Given the description of an element on the screen output the (x, y) to click on. 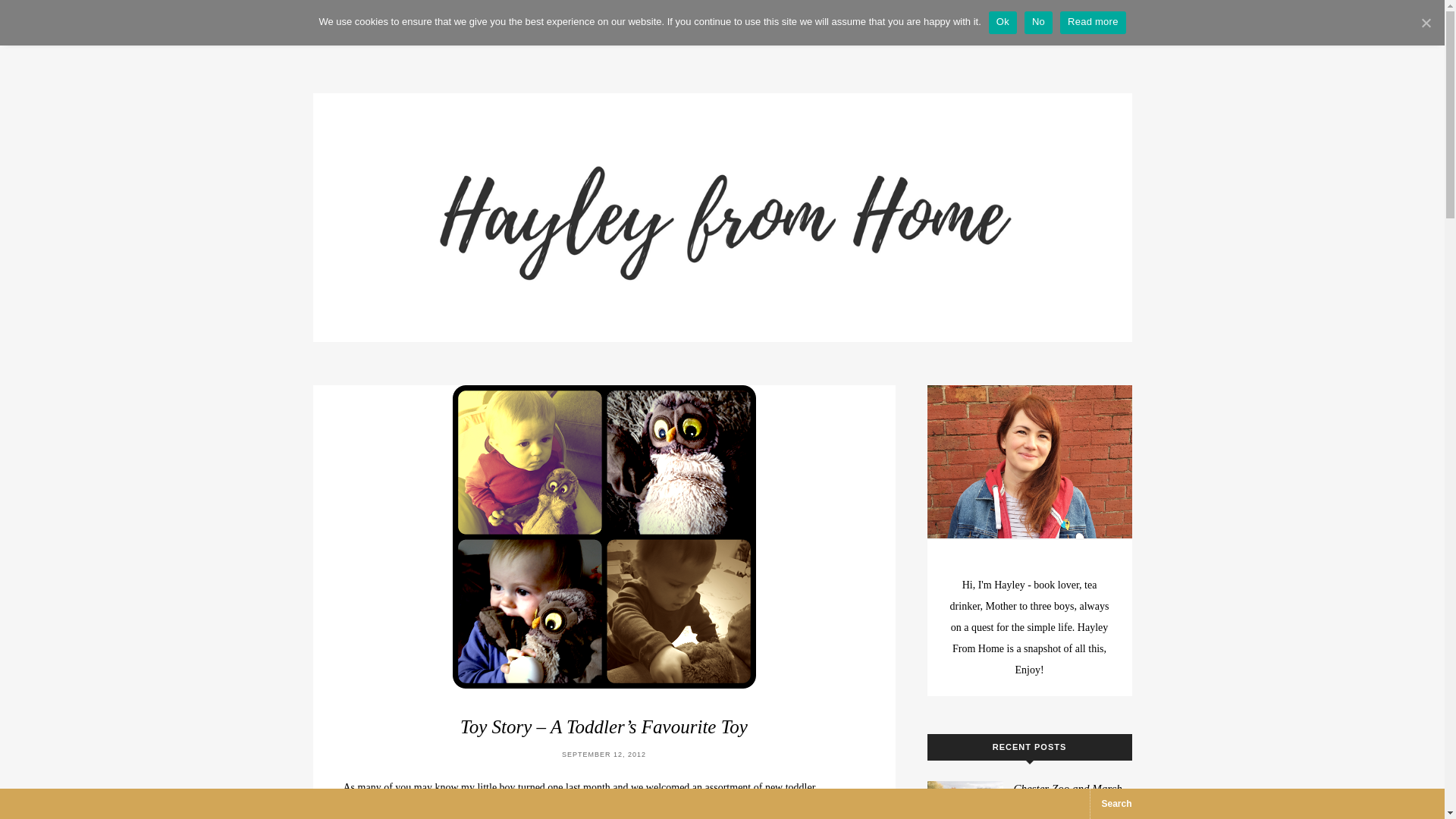
ADVENTURES (554, 26)
BOOKS (632, 26)
FAMILY (697, 26)
LIFESTYLE (772, 26)
